Given the description of an element on the screen output the (x, y) to click on. 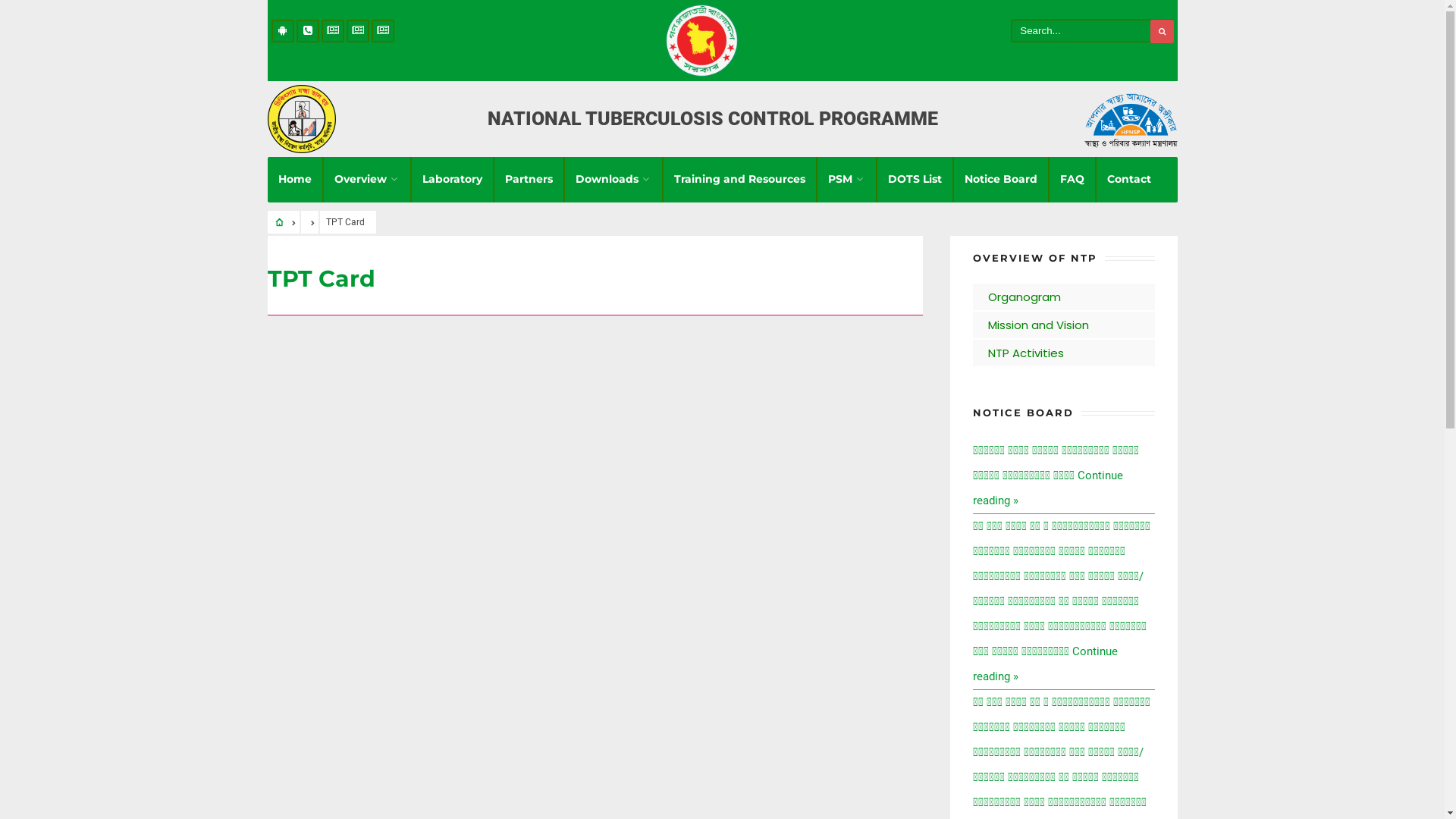
PSM Element type: text (846, 179)
Laboratory Element type: text (451, 179)
Mission and Vision Element type: text (1063, 324)
android Element type: hover (282, 30)
Training and Resources Element type: text (738, 179)
NTP Activities Element type: text (1063, 352)
Downloads Element type: text (612, 179)
DOTS List Element type: text (914, 179)
Contact Element type: text (1129, 179)
FAQ Element type: text (1072, 179)
TPT Card Element type: text (320, 278)
DHIS2 Element type: hover (356, 30)
Organogram Element type: text (1063, 296)
eTB Manager Element type: hover (332, 30)
Janao Element type: hover (382, 30)
Home Element type: text (293, 179)
Partners Element type: text (528, 179)
Overview Element type: text (365, 179)
Notice Board Element type: text (1000, 179)
Telephone Directory Element type: hover (306, 30)
